Given the description of an element on the screen output the (x, y) to click on. 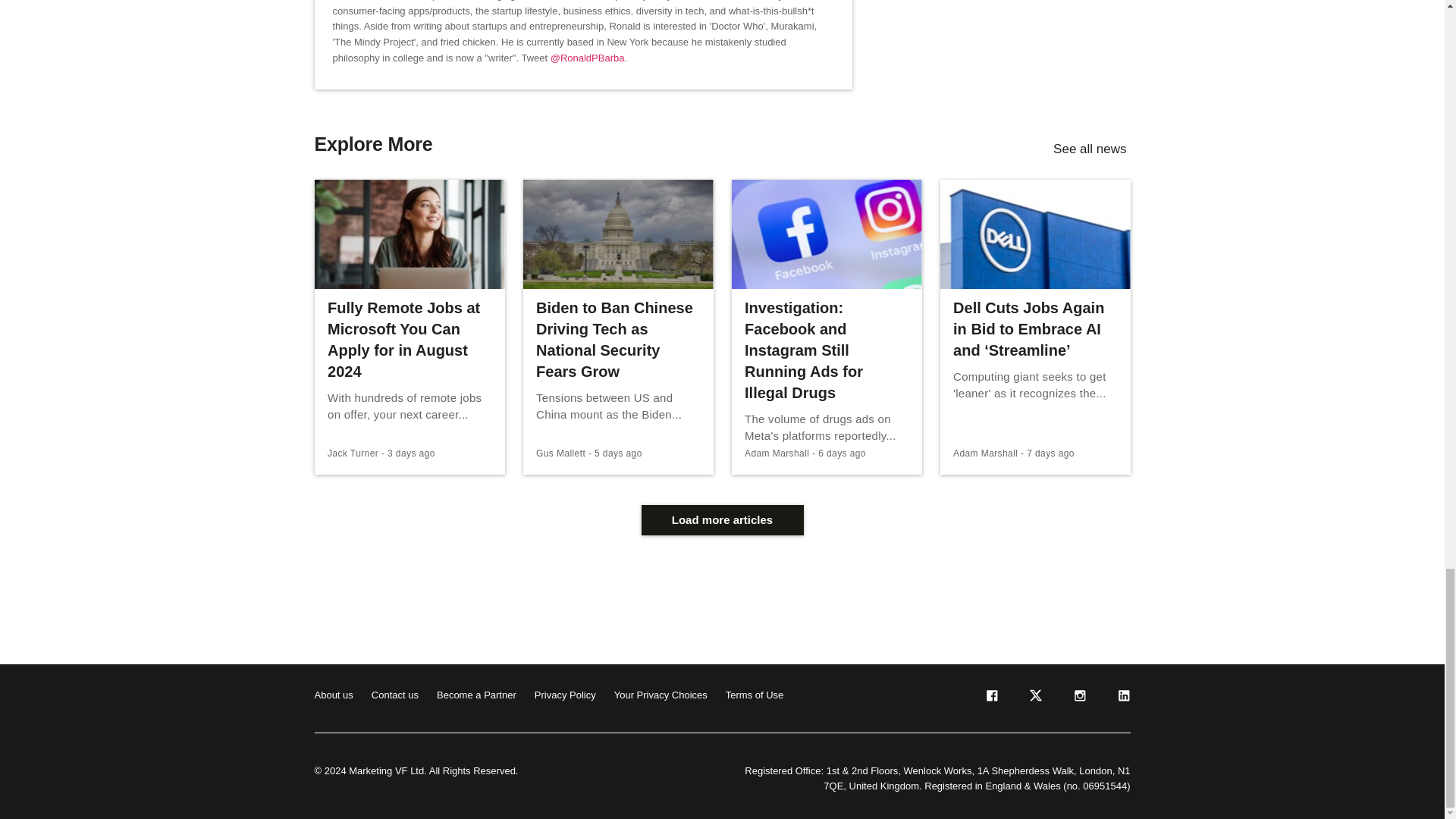
facebook (990, 698)
twitter-x (1034, 698)
linkedin (1122, 698)
instagram (1078, 698)
